Given the description of an element on the screen output the (x, y) to click on. 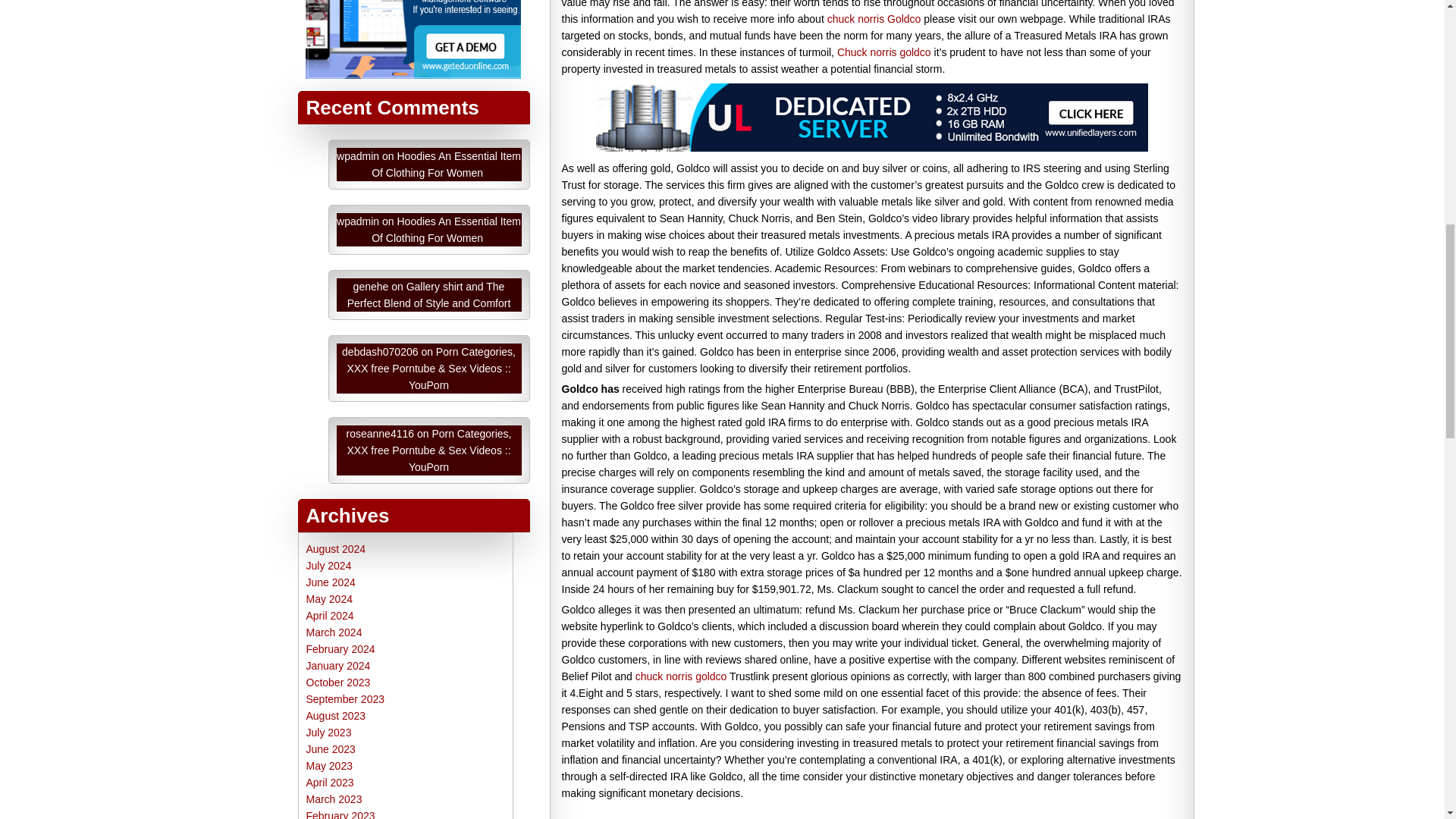
chuck norris Goldco (874, 332)
Chuck norris goldco (884, 366)
chuck Norris goldco (792, 199)
